Given the description of an element on the screen output the (x, y) to click on. 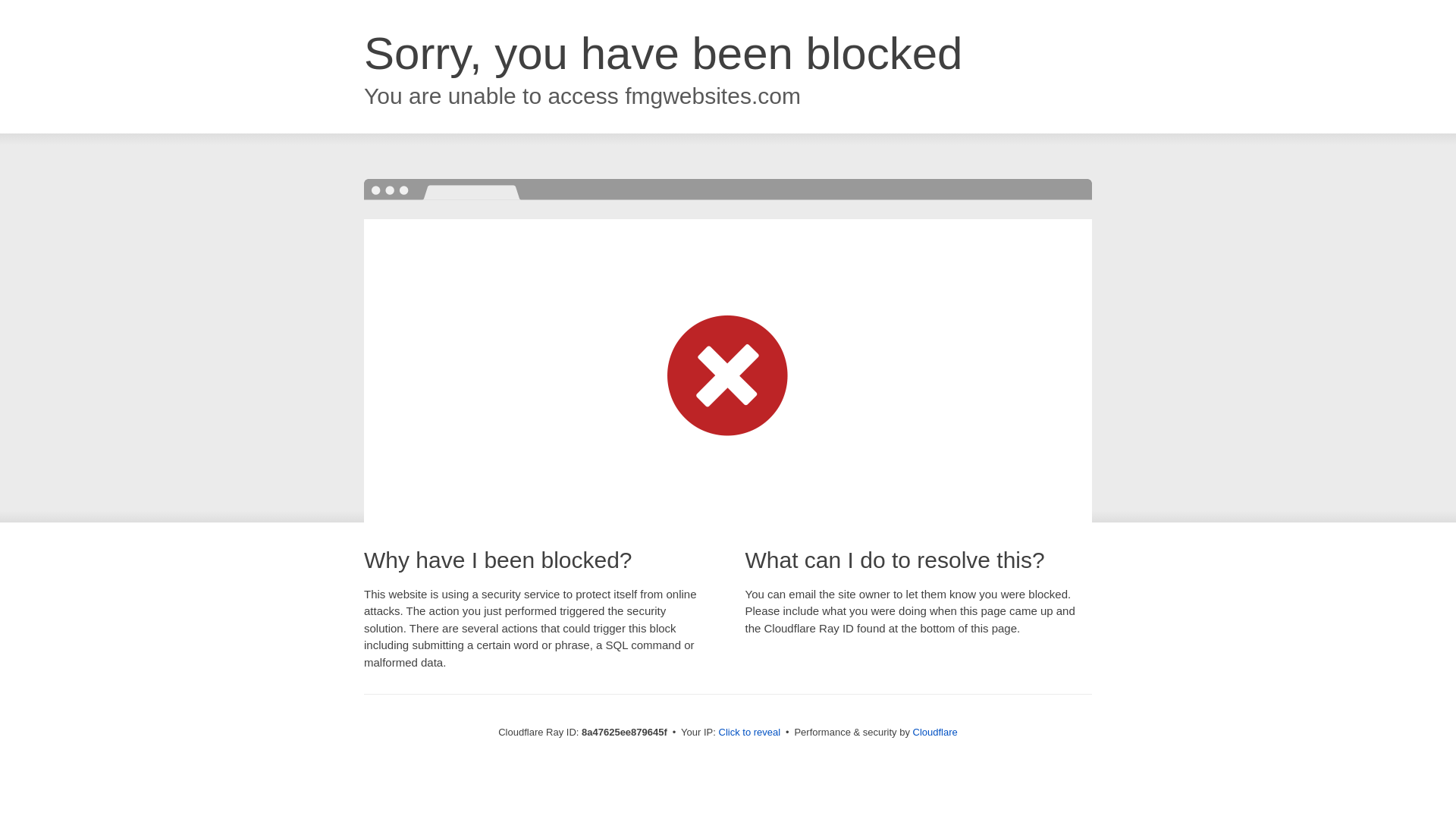
Cloudflare (935, 731)
Click to reveal (749, 732)
